Given the description of an element on the screen output the (x, y) to click on. 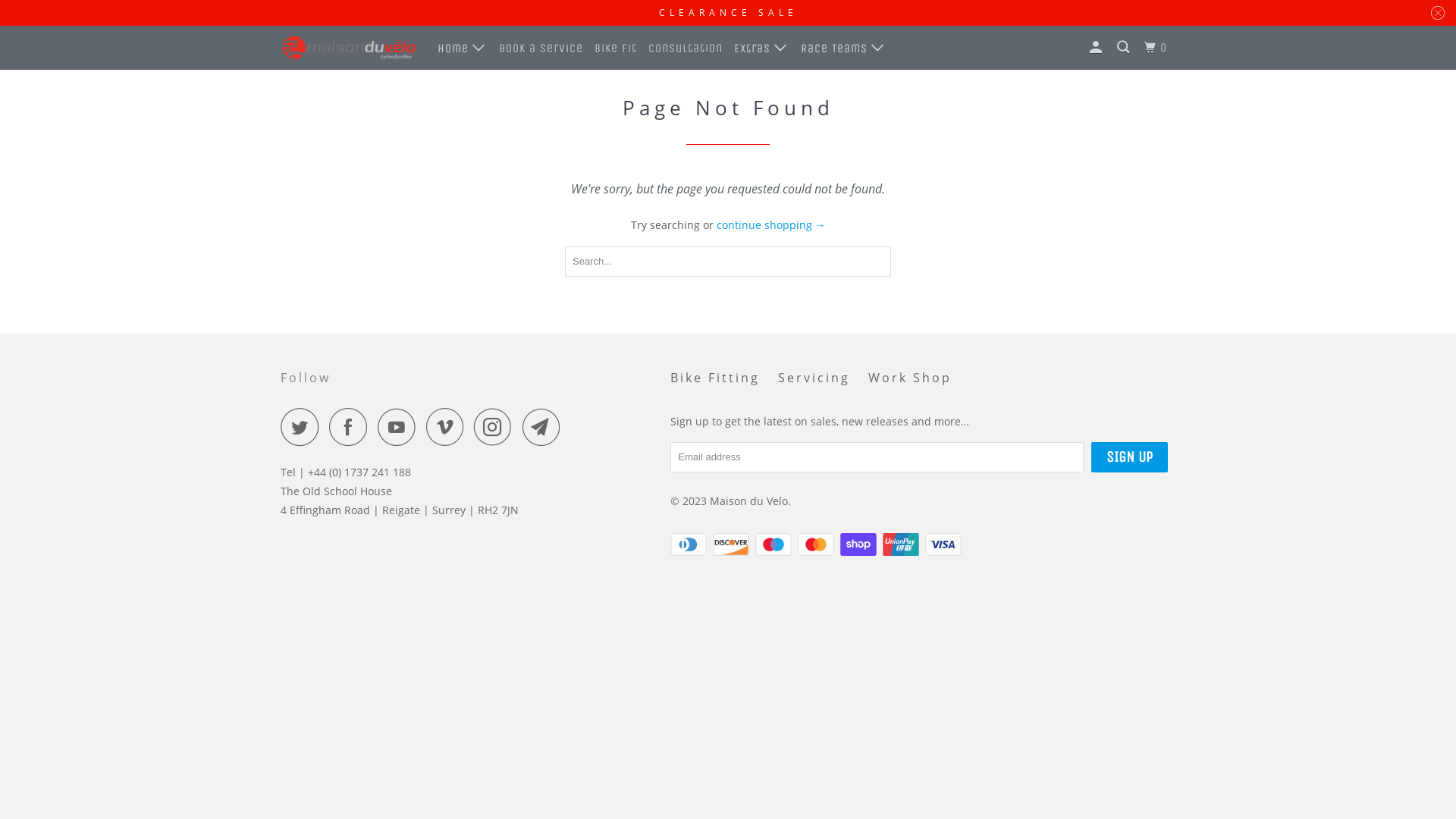
Sign Up Element type: text (1129, 457)
Servicing Element type: text (814, 377)
Search Element type: hover (1124, 47)
Maison du Velo on YouTube Element type: hover (400, 426)
Book a Service Element type: text (540, 48)
Maison du Velo Element type: text (748, 500)
Maison du Velo Element type: hover (348, 47)
Consultation Element type: text (685, 48)
0 Element type: text (1156, 47)
Maison du Velo on Twitter Element type: hover (303, 426)
Work Shop Element type: text (909, 377)
My Account  Element type: hover (1096, 47)
Bike Fitting Element type: text (714, 377)
Maison du Velo on Facebook Element type: hover (351, 426)
Bike Fit Element type: text (615, 48)
Email Maison du Velo Element type: hover (544, 426)
Maison du Velo on Instagram Element type: hover (496, 426)
Maison du Velo on Vimeo Element type: hover (448, 426)
